Given the description of an element on the screen output the (x, y) to click on. 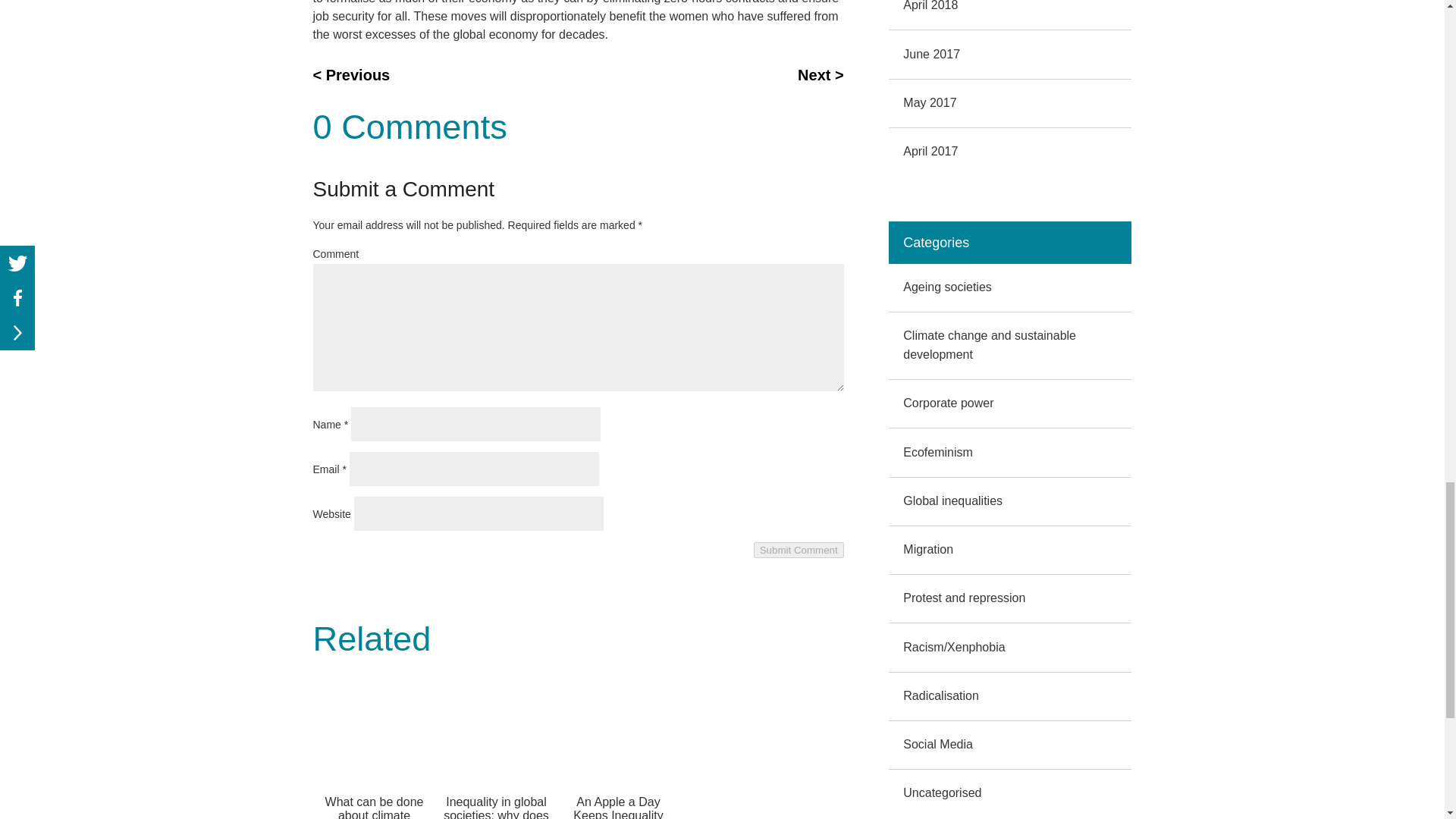
Previous (351, 75)
Submit Comment (799, 549)
Next (820, 75)
